Given the description of an element on the screen output the (x, y) to click on. 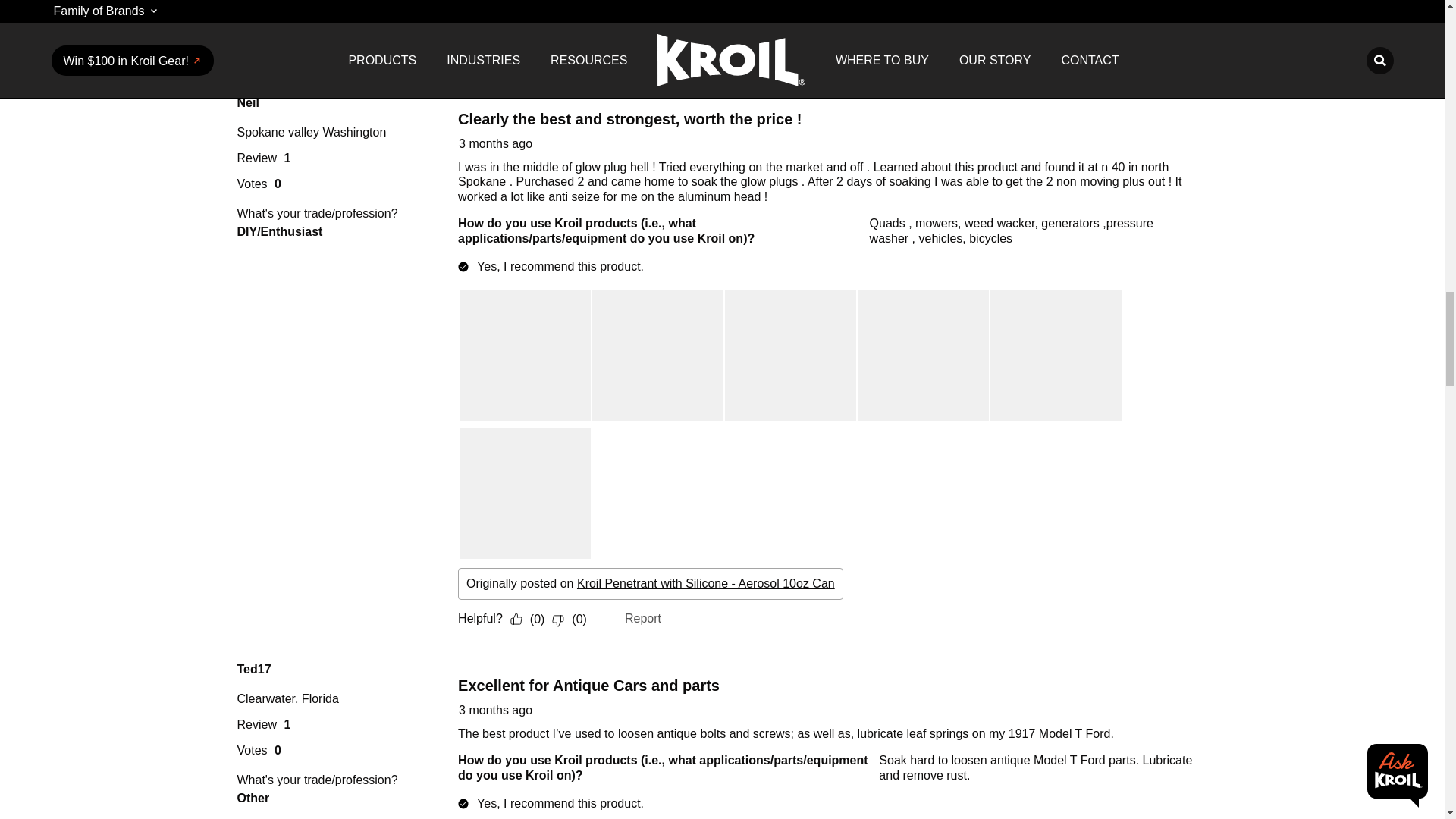
5 out of 5 stars. (486, 101)
5 out of 5 stars. (486, 668)
